Given the description of an element on the screen output the (x, y) to click on. 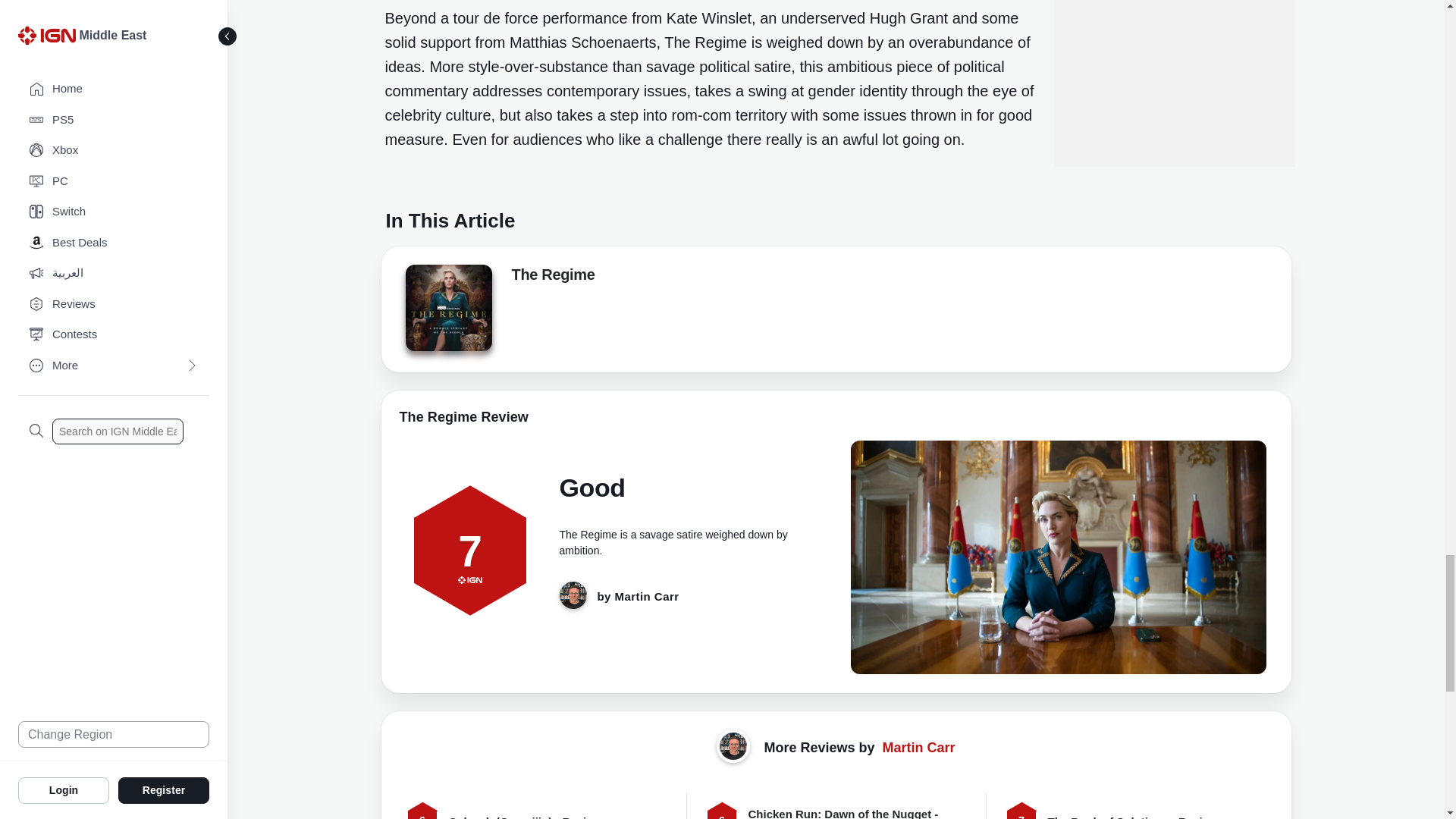
The Regime (448, 312)
The Regime (448, 307)
The Regime (552, 277)
